Given the description of an element on the screen output the (x, y) to click on. 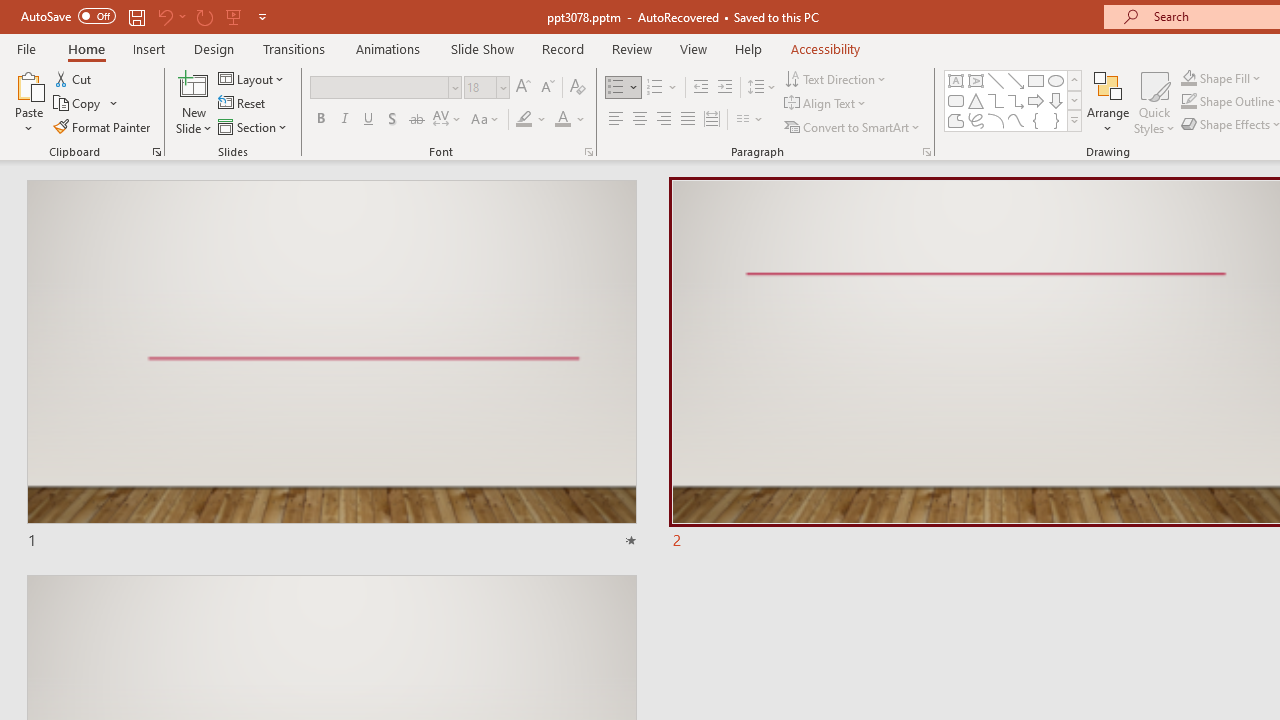
Increase Font Size (522, 87)
Bullets (623, 87)
Shadow (392, 119)
Connector: Elbow (995, 100)
Font Size (486, 87)
Text Highlight Color (531, 119)
Home (86, 48)
Cut (73, 78)
Layout (252, 78)
Numbering (654, 87)
Arrange (1108, 102)
Italic (344, 119)
Underline (369, 119)
Right Brace (1055, 120)
Isosceles Triangle (975, 100)
